Given the description of an element on the screen output the (x, y) to click on. 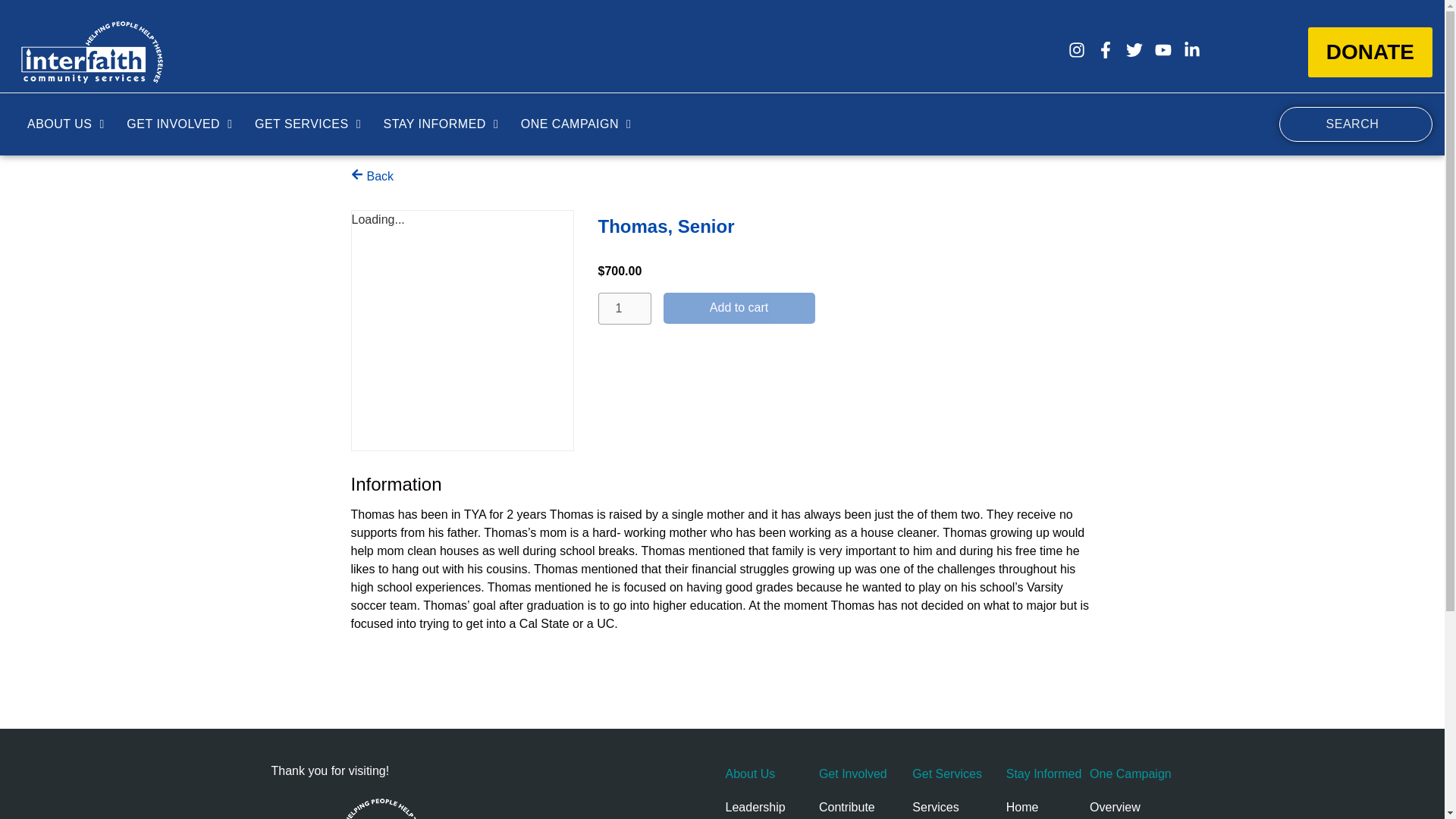
GET INVOLVED (179, 123)
DONATE (1369, 51)
GET SERVICES (307, 123)
STAY INFORMED (439, 123)
ABOUT US (65, 123)
1 (623, 308)
